Given the description of an element on the screen output the (x, y) to click on. 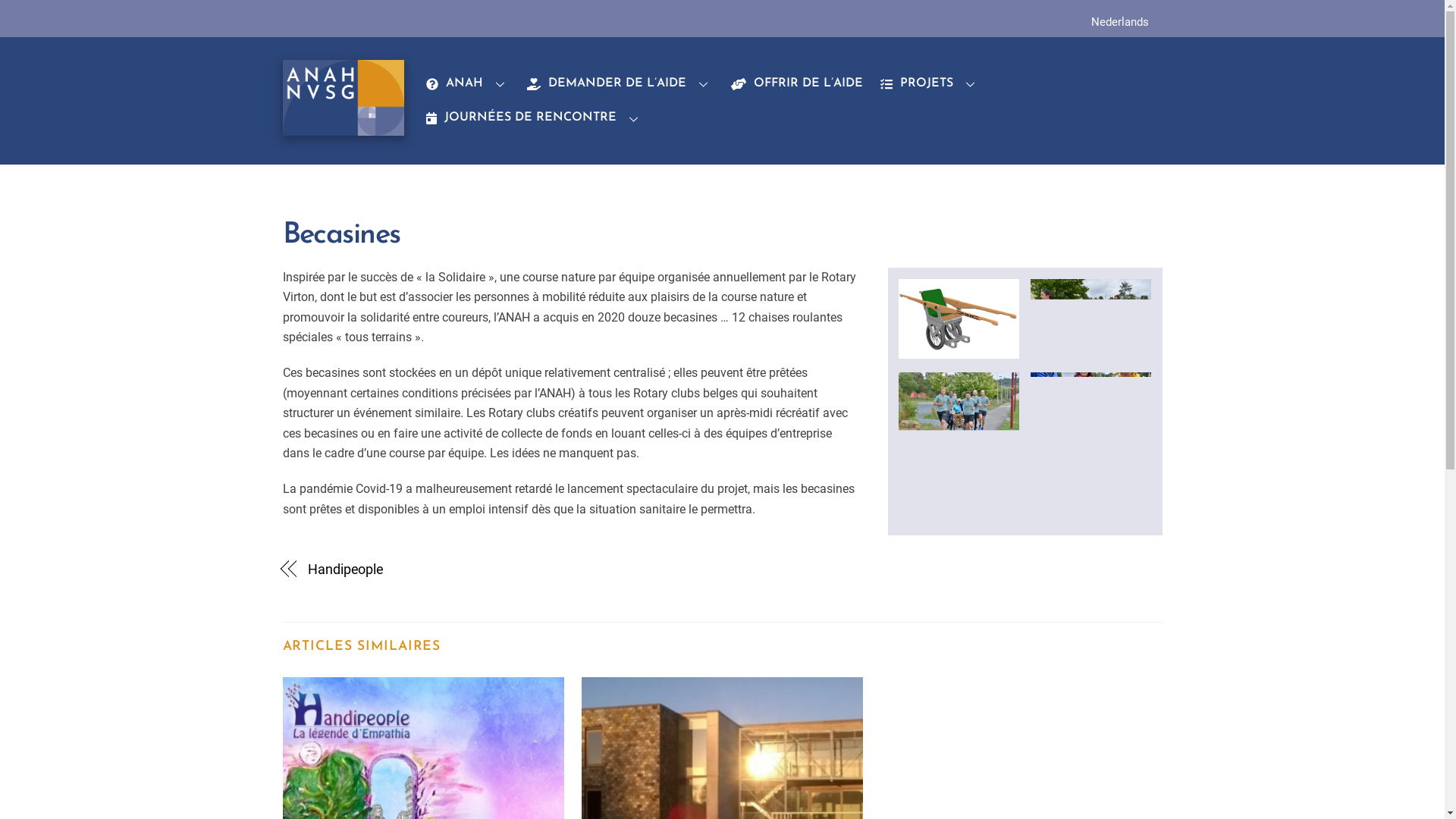
anah-nvsg-projects-10 Element type: hover (958, 412)
anah-nvsg-projects-11 Element type: hover (1090, 411)
Nederlands Element type: text (1118, 21)
ANAH-NVSG Element type: hover (343, 128)
anah-nvsg-projects-9 Element type: hover (1090, 319)
Handipeople Element type: text (501, 569)
PROJETS Element type: text (930, 82)
ANAH Element type: text (467, 82)
anah-nvsg-projects-8 Element type: hover (958, 319)
ANAH-NVSG-logo-400 Element type: hover (343, 97)
